Given the description of an element on the screen output the (x, y) to click on. 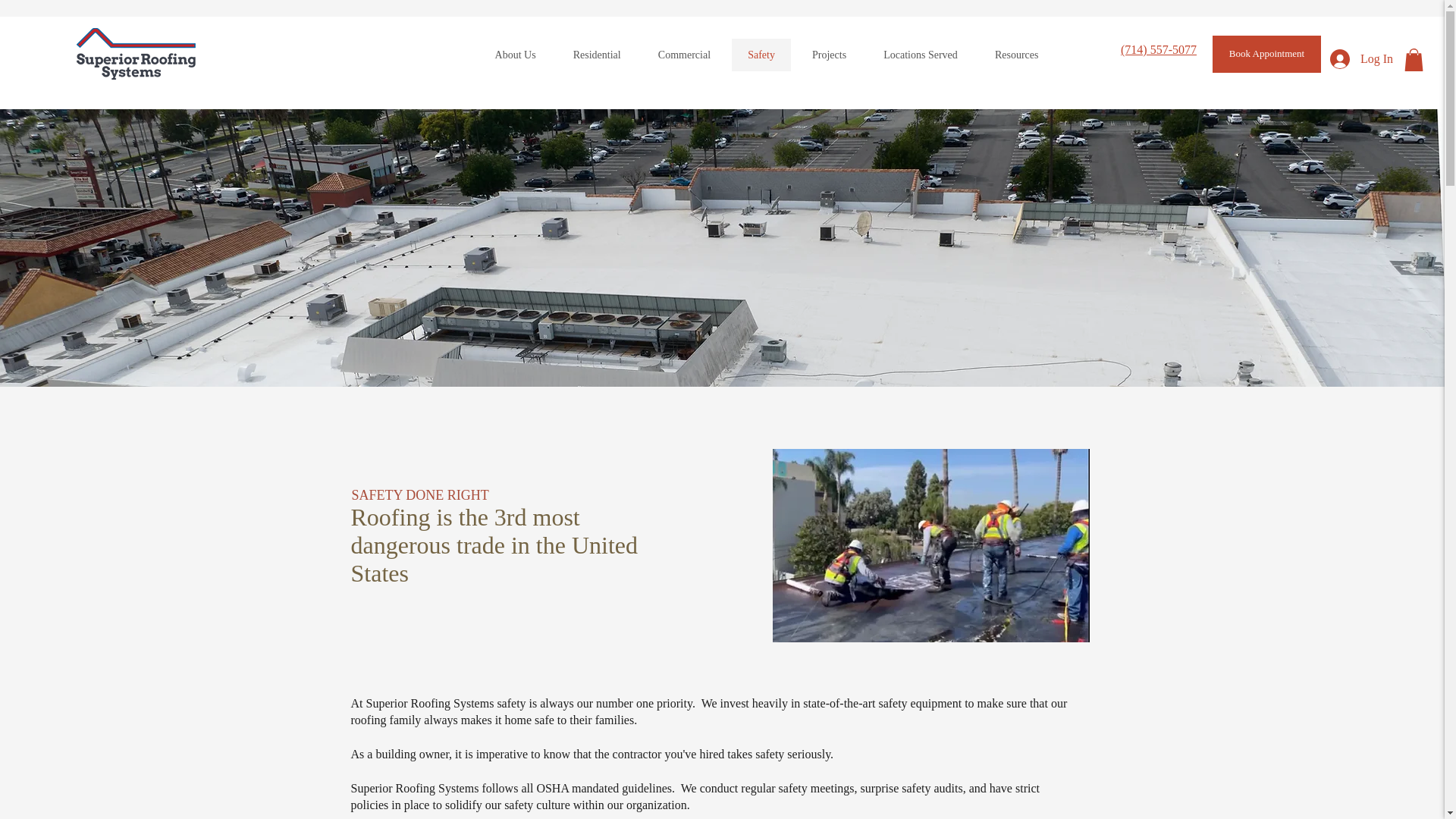
Locations Served (920, 54)
Residential (596, 54)
Commercial (684, 54)
Resources (1016, 54)
Book Appointment (1266, 54)
Home (136, 53)
Safety (762, 54)
Projects (827, 54)
Log In (1361, 59)
About Us (515, 54)
